Given the description of an element on the screen output the (x, y) to click on. 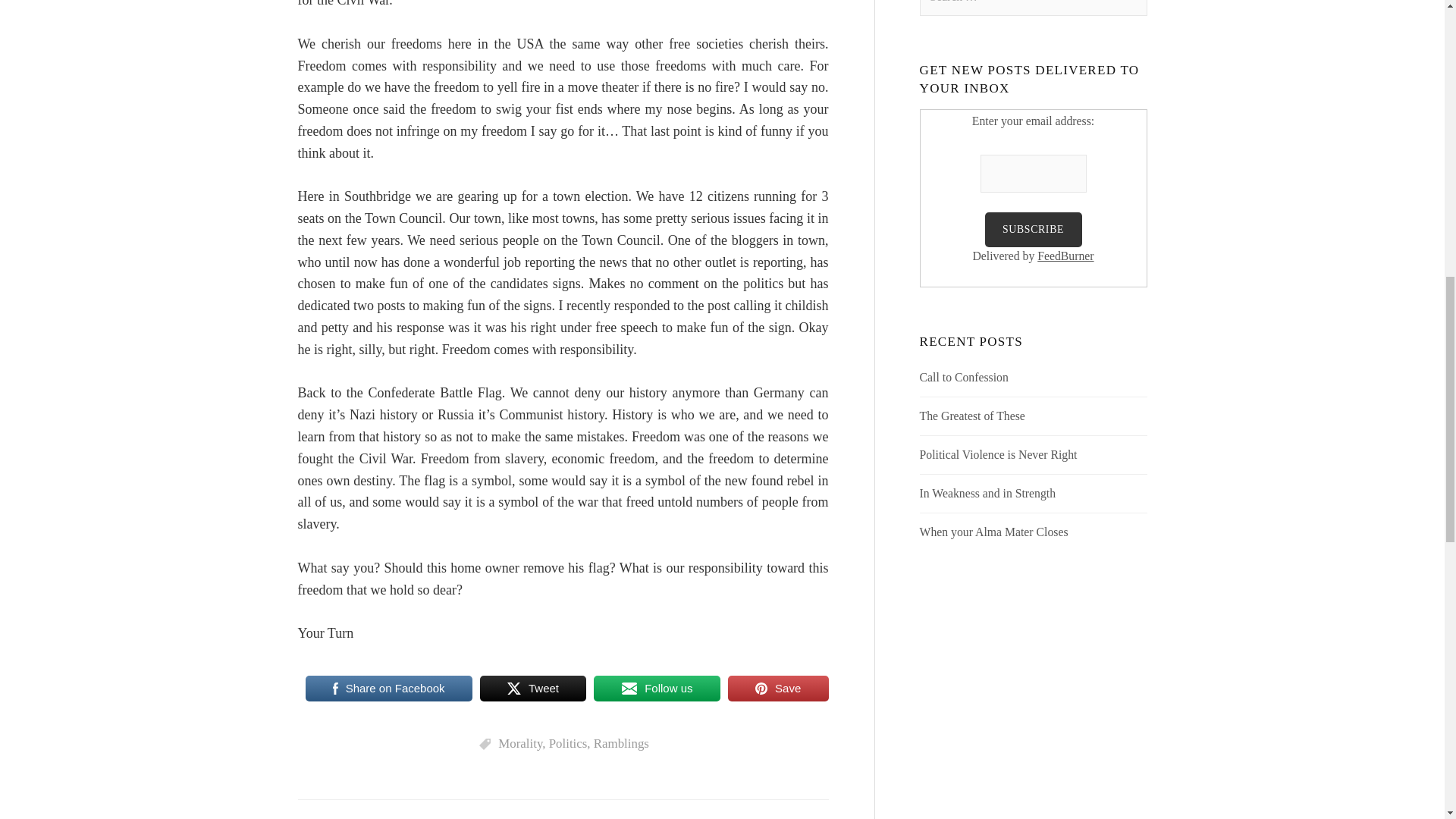
Follow us (657, 688)
Ramblings (621, 743)
Save (778, 688)
Subscribe (1033, 230)
Call to Confession (964, 377)
Morality (519, 743)
FeedBurner (1064, 255)
Tweet (533, 688)
Politics (568, 743)
When your Alma Mater Closes (994, 531)
